Given the description of an element on the screen output the (x, y) to click on. 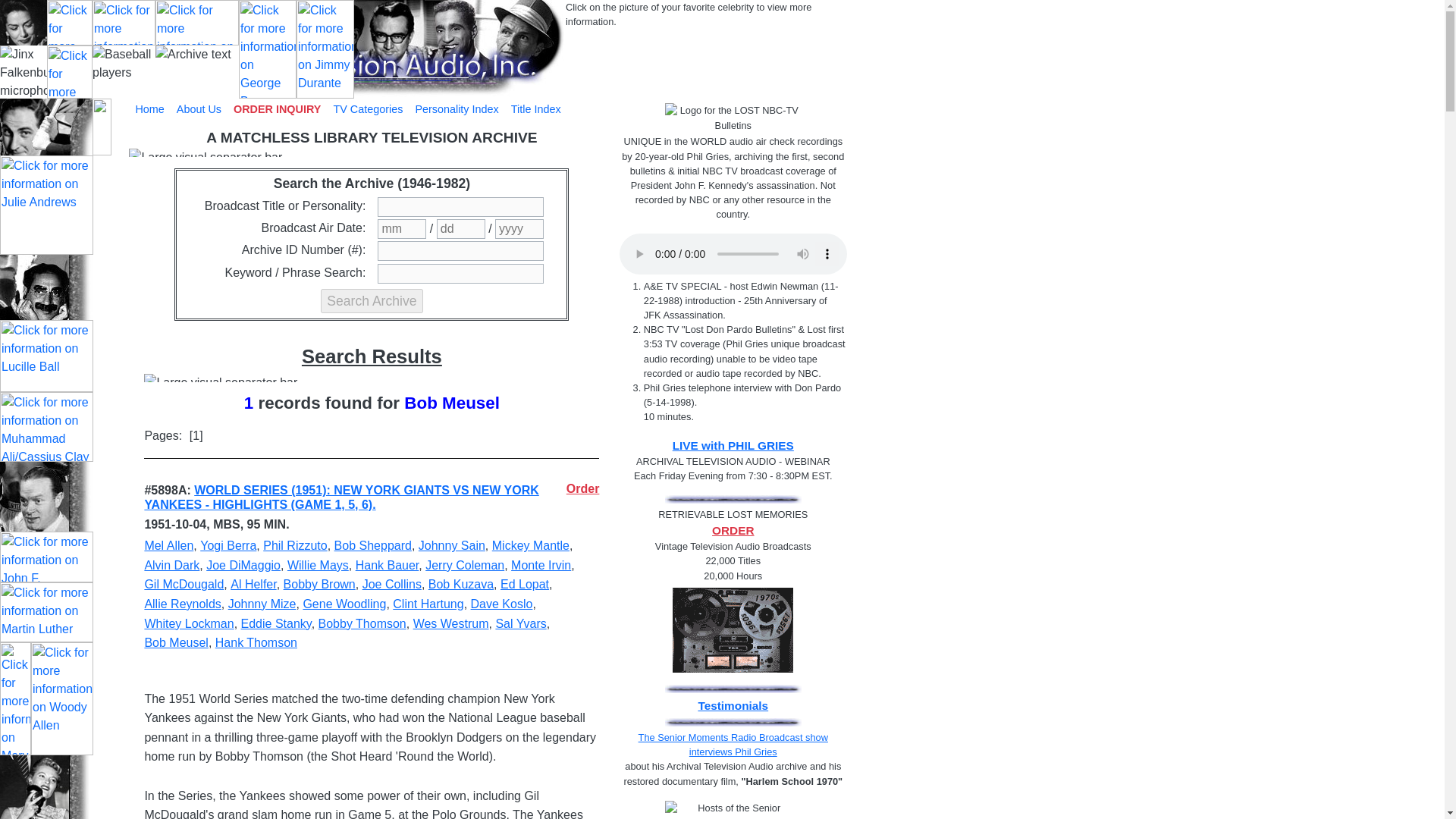
Click for more information on Julie Andrews (46, 204)
Click for more information on Ed Sullivan (69, 22)
Click for more information on Milton Berle (196, 22)
Click for more information on Sid Caesar (46, 126)
Click for more information on John F. Kennedy (46, 556)
Search Archive (371, 300)
Click for more information on Lucille Ball (46, 356)
Click for more information on Groucho Marx (46, 287)
Click for more information on Bob Hope (46, 496)
Search Archive (371, 300)
Click for more information on Roy Campanella (124, 22)
Click for more information on Jinx Falkenburg (23, 22)
Click for more information on Martin Luther King (46, 612)
Click for more information on Frank Sinatra (521, 49)
